Given the description of an element on the screen output the (x, y) to click on. 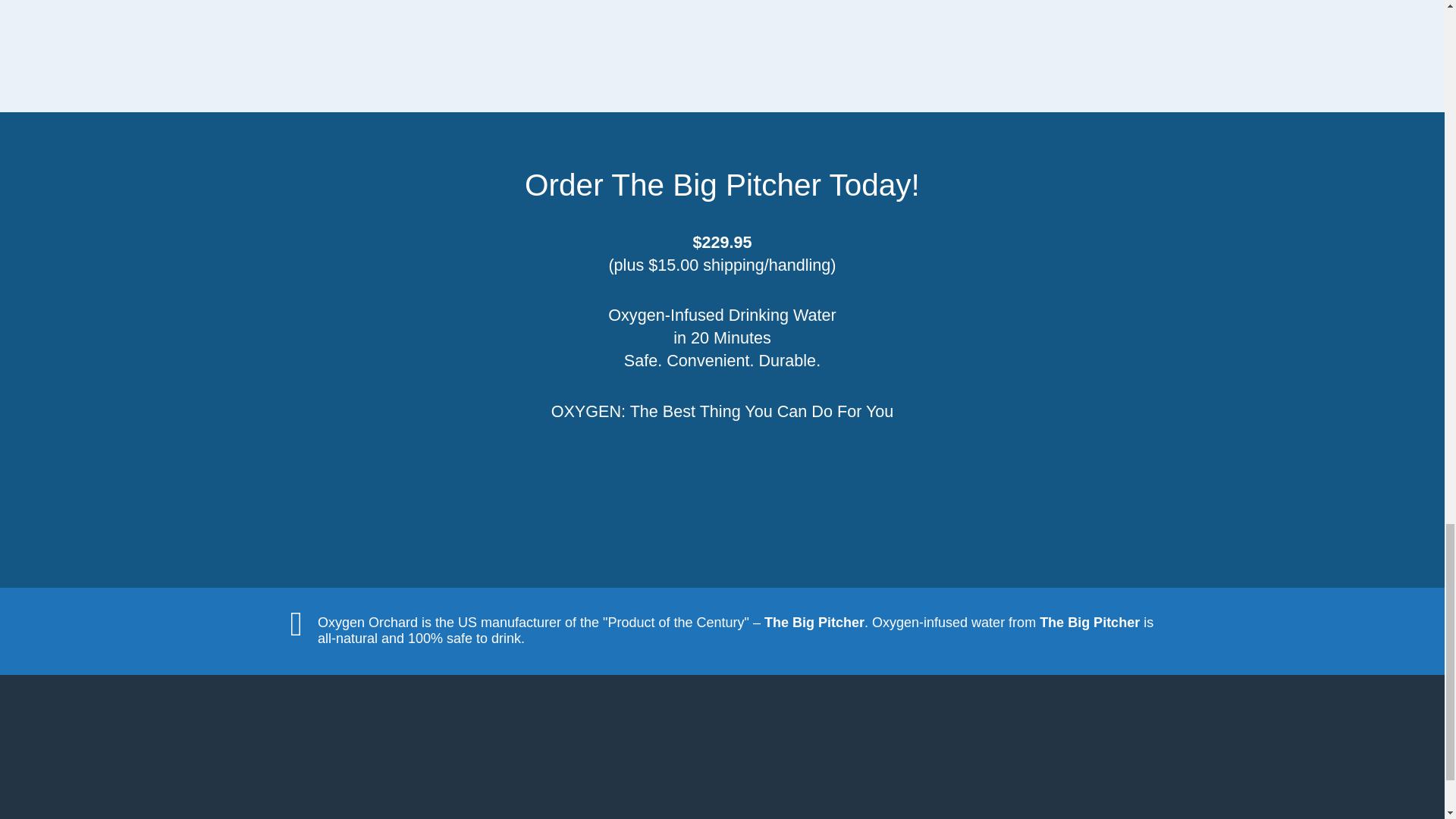
PayPal (721, 490)
